Given the description of an element on the screen output the (x, y) to click on. 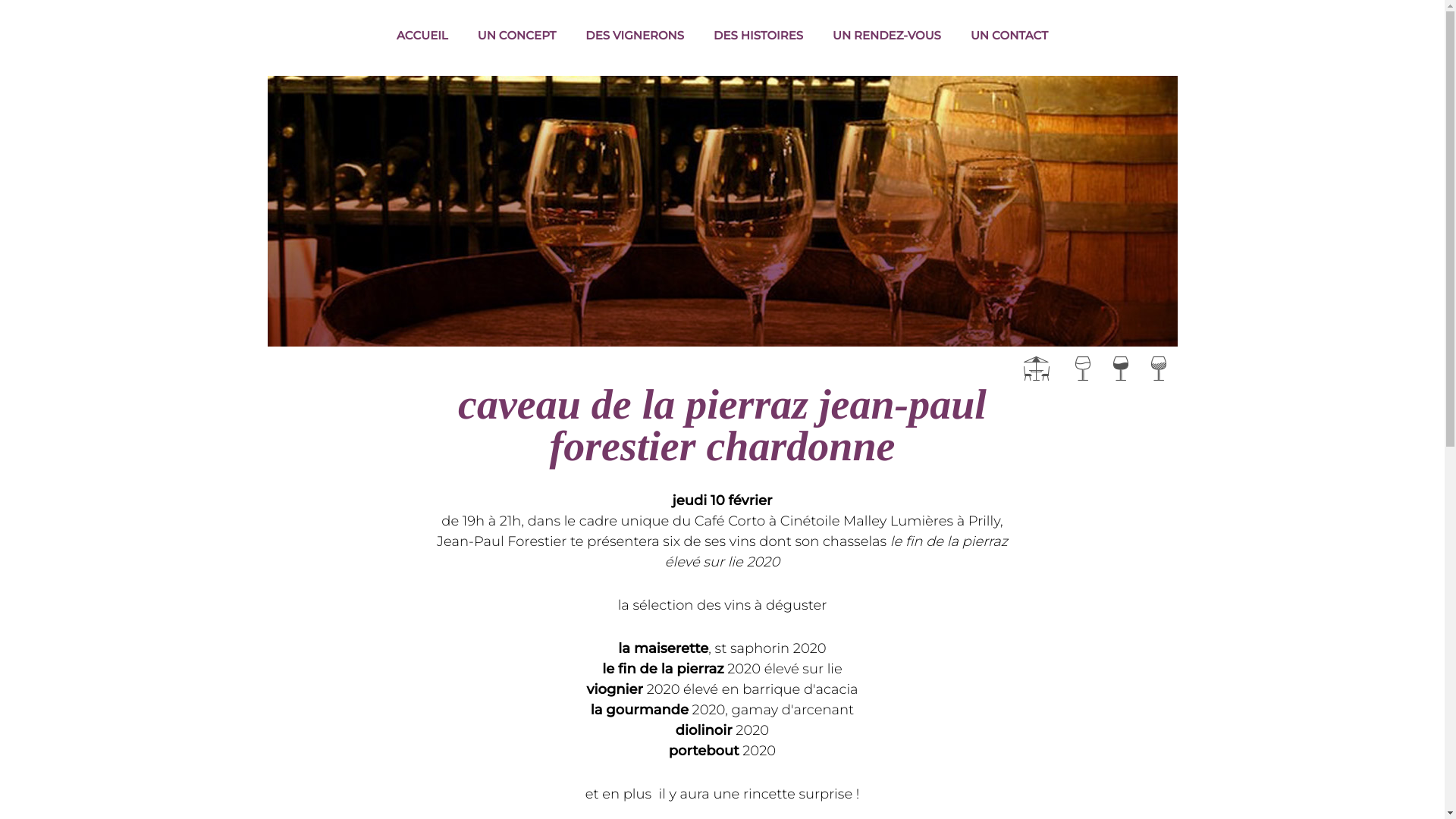
UN CONCEPT Element type: text (516, 36)
ACCUEIL Element type: text (422, 36)
DES VIGNERONS Element type: text (634, 36)
UN RENDEZ-VOUS Element type: text (886, 36)
UN CONTACT Element type: text (1009, 36)
DES HISTOIRES Element type: text (758, 36)
